Given the description of an element on the screen output the (x, y) to click on. 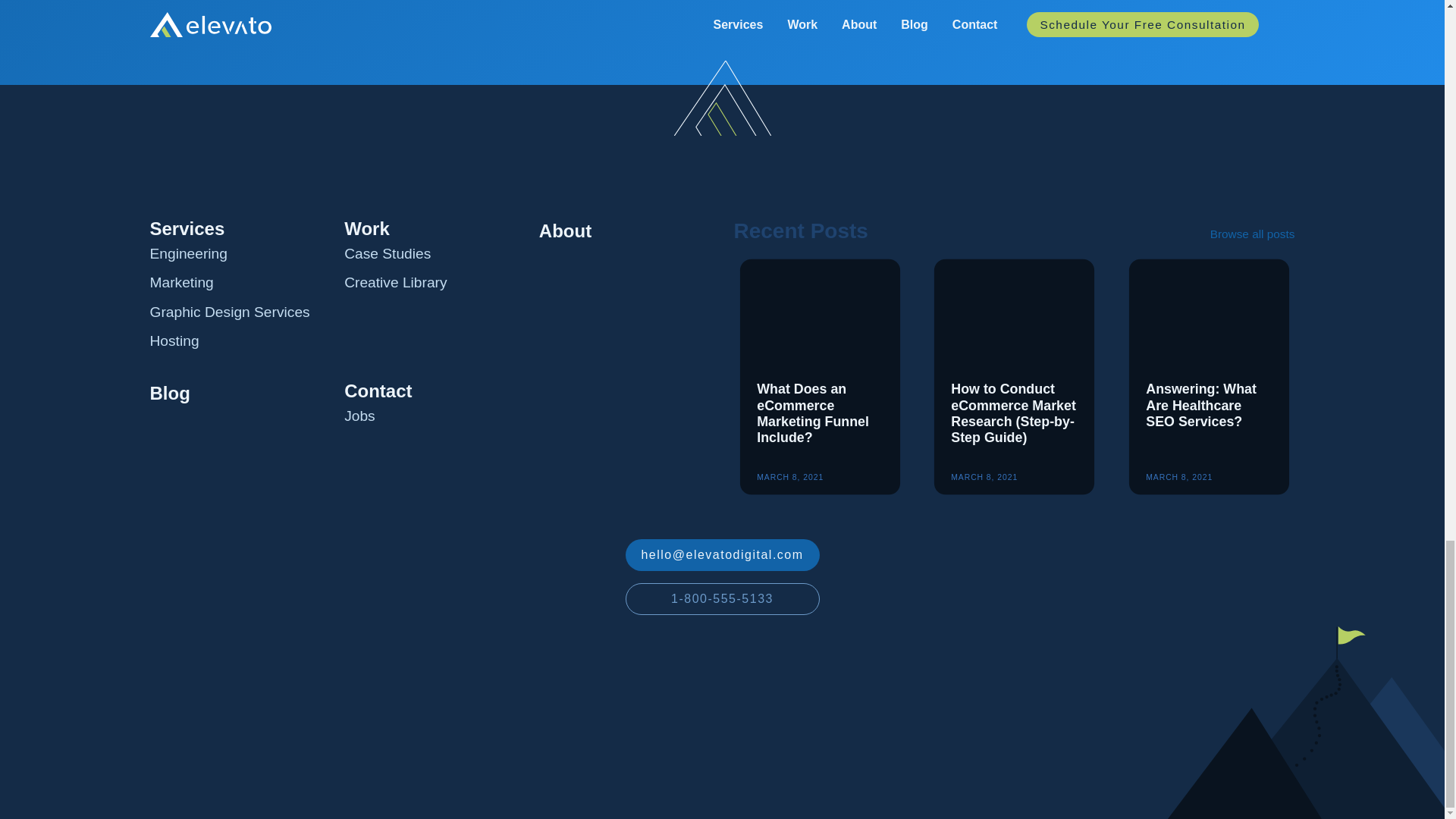
1-800-555-5133 (721, 599)
Blog (169, 393)
Services (187, 228)
Creative Library (394, 282)
Jobs (359, 416)
Engineering (188, 253)
Marketing (181, 282)
Hosting (174, 340)
Contact (377, 391)
Graphic Design Services (229, 312)
Case Studies (386, 253)
About (564, 230)
Browse all posts (1252, 233)
Work (366, 228)
